Given the description of an element on the screen output the (x, y) to click on. 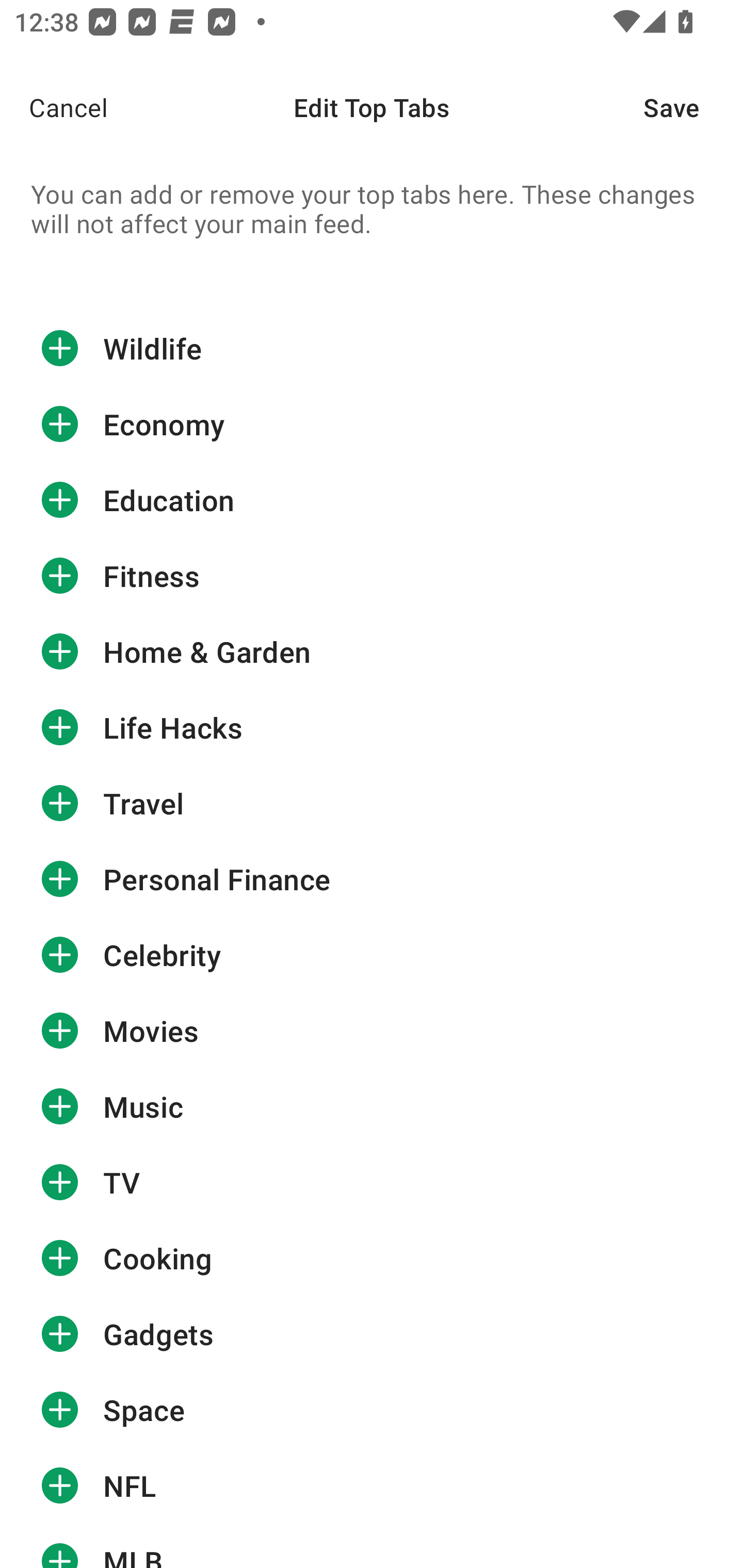
Cancel (53, 106)
Save (693, 106)
Wildlife (371, 347)
Economy (371, 423)
Education (371, 499)
Fitness (371, 575)
Home & Garden (371, 651)
Life Hacks (371, 727)
Travel (371, 803)
Personal Finance (371, 879)
Celebrity (371, 954)
Movies (371, 1030)
Music (371, 1106)
TV (371, 1181)
Cooking (371, 1257)
Gadgets (371, 1334)
Space (371, 1409)
NFL (371, 1485)
